Given the description of an element on the screen output the (x, y) to click on. 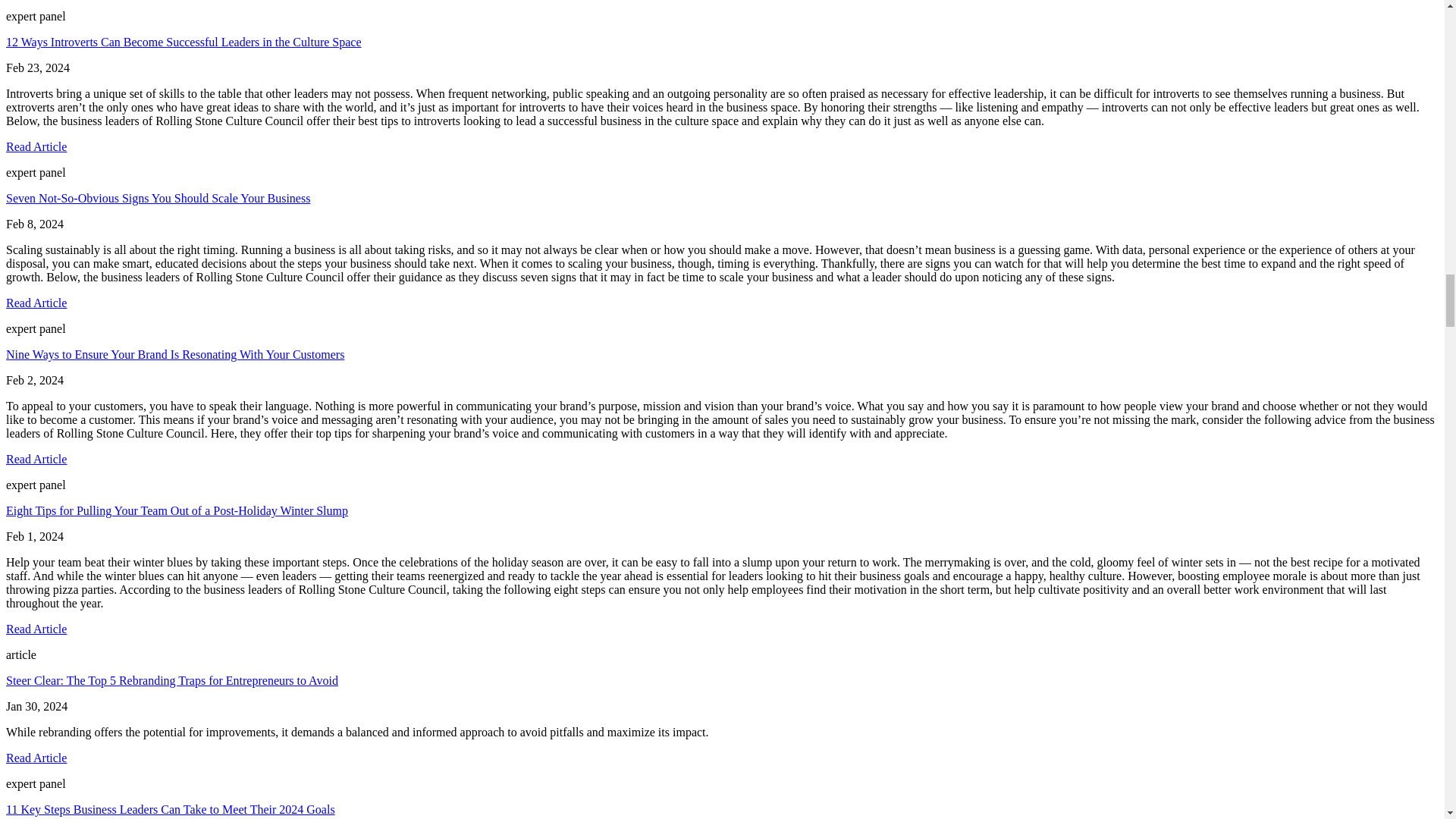
Read Article (35, 459)
Seven Not-So-Obvious Signs You Should Scale Your Business (157, 197)
Read Article (35, 146)
Read Article (35, 757)
Read Article (35, 628)
Read Article (35, 302)
